Given the description of an element on the screen output the (x, y) to click on. 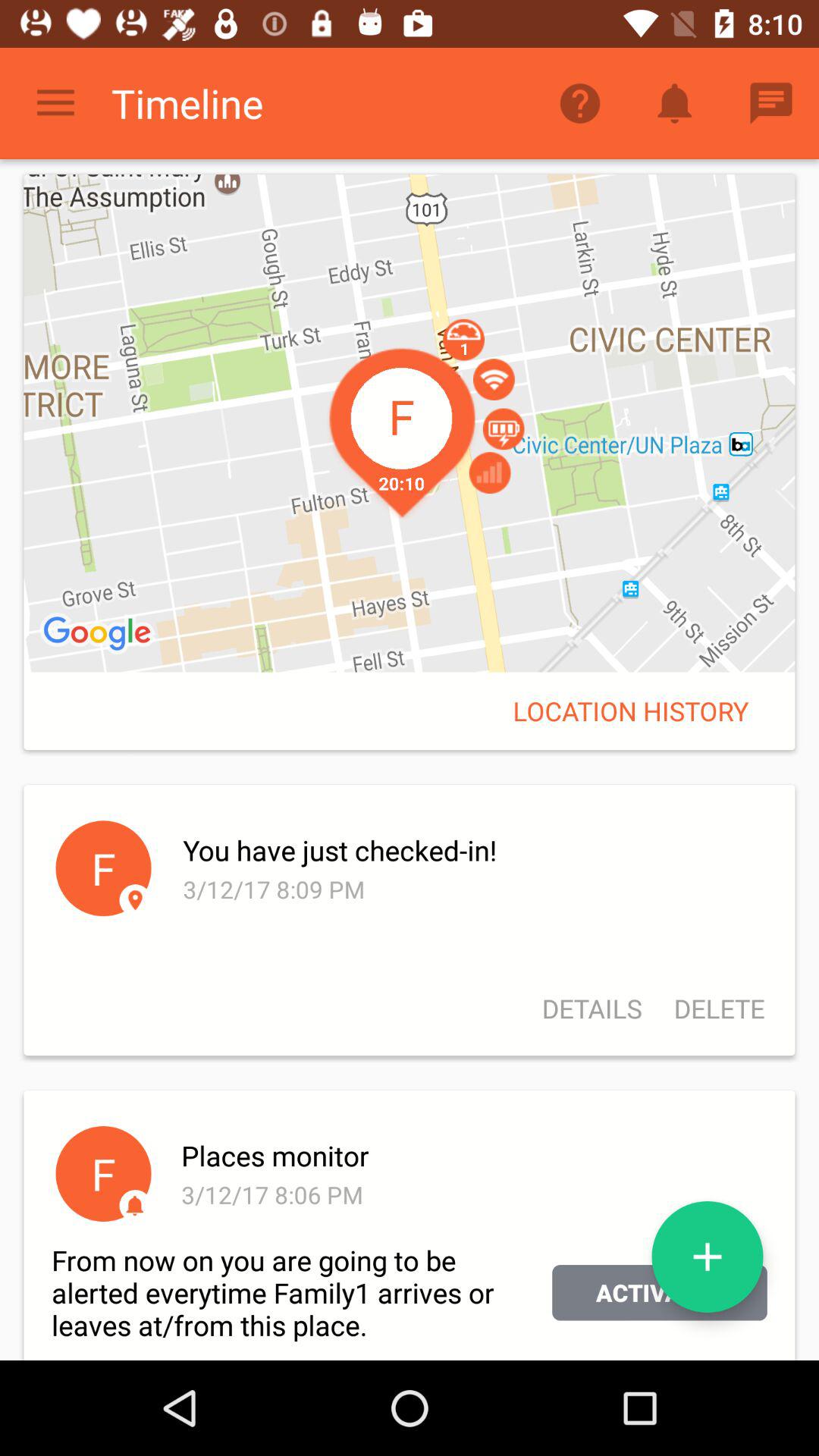
tap item to the left of the delete (592, 1008)
